Given the description of an element on the screen output the (x, y) to click on. 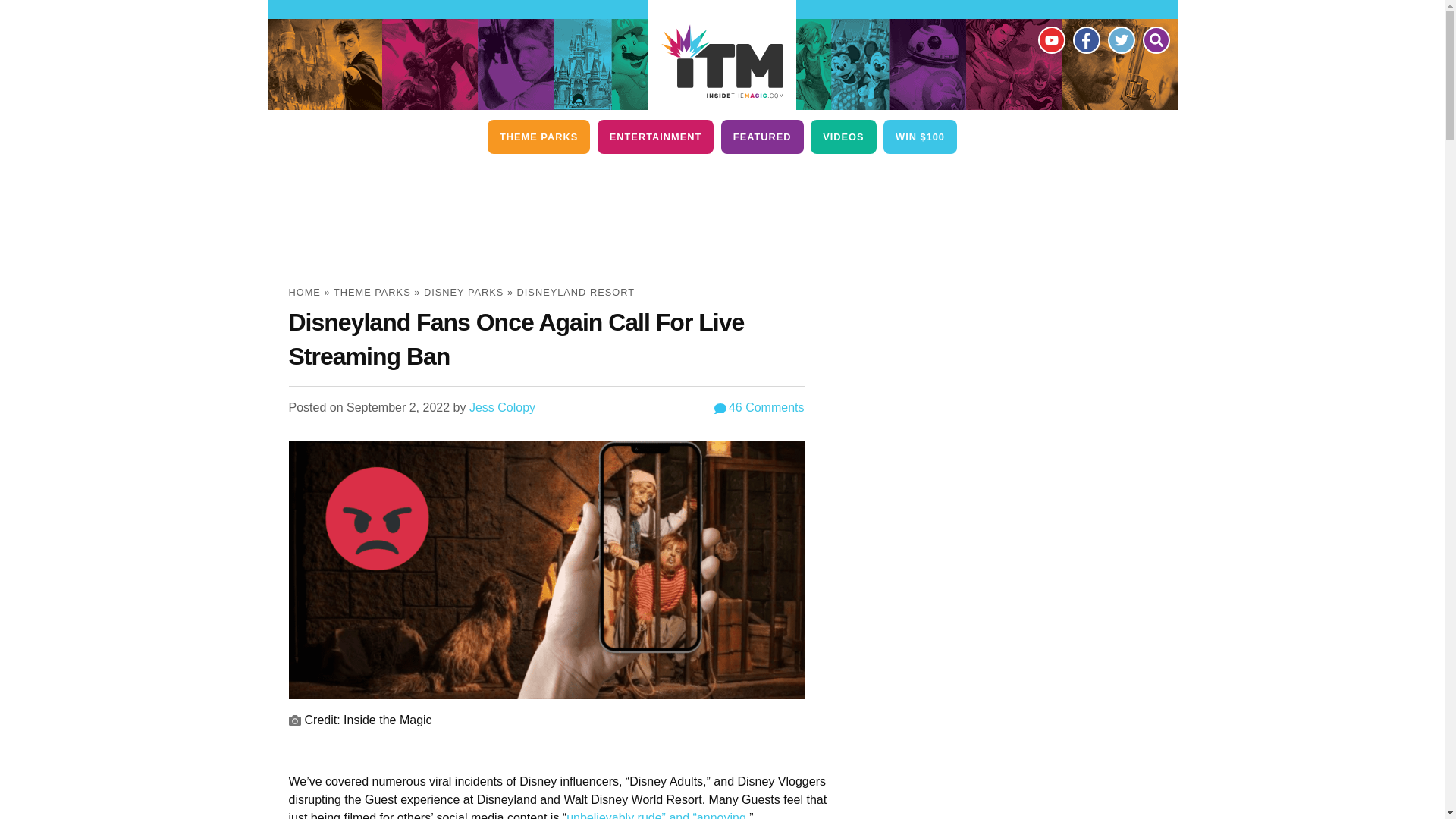
THEME PARKS (538, 136)
Twitter (1120, 40)
Search (1155, 40)
Facebook (1085, 40)
YouTube (1050, 40)
FEATURED (761, 136)
ENTERTAINMENT (655, 136)
